Given the description of an element on the screen output the (x, y) to click on. 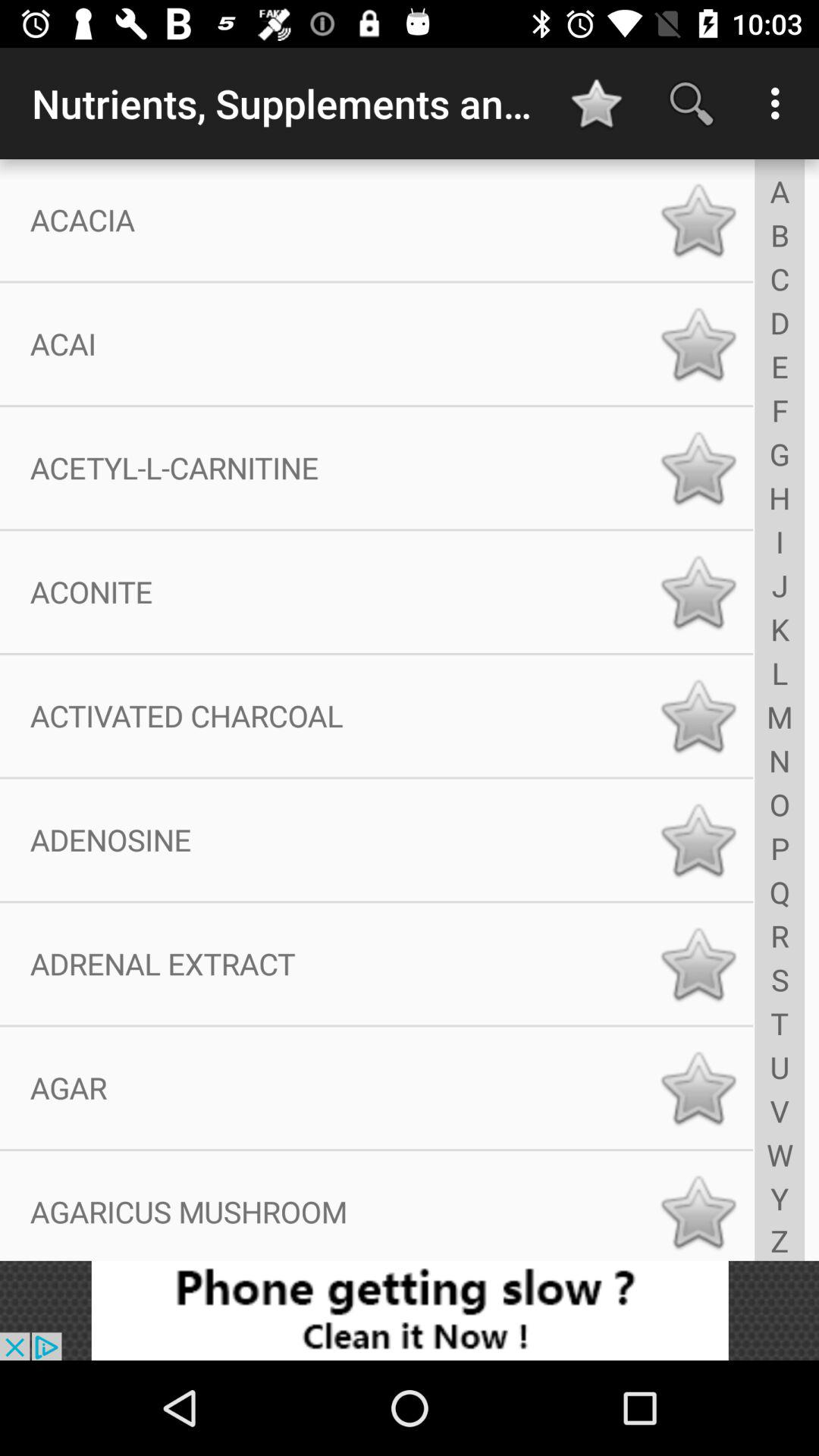
go to add (409, 1310)
